Given the description of an element on the screen output the (x, y) to click on. 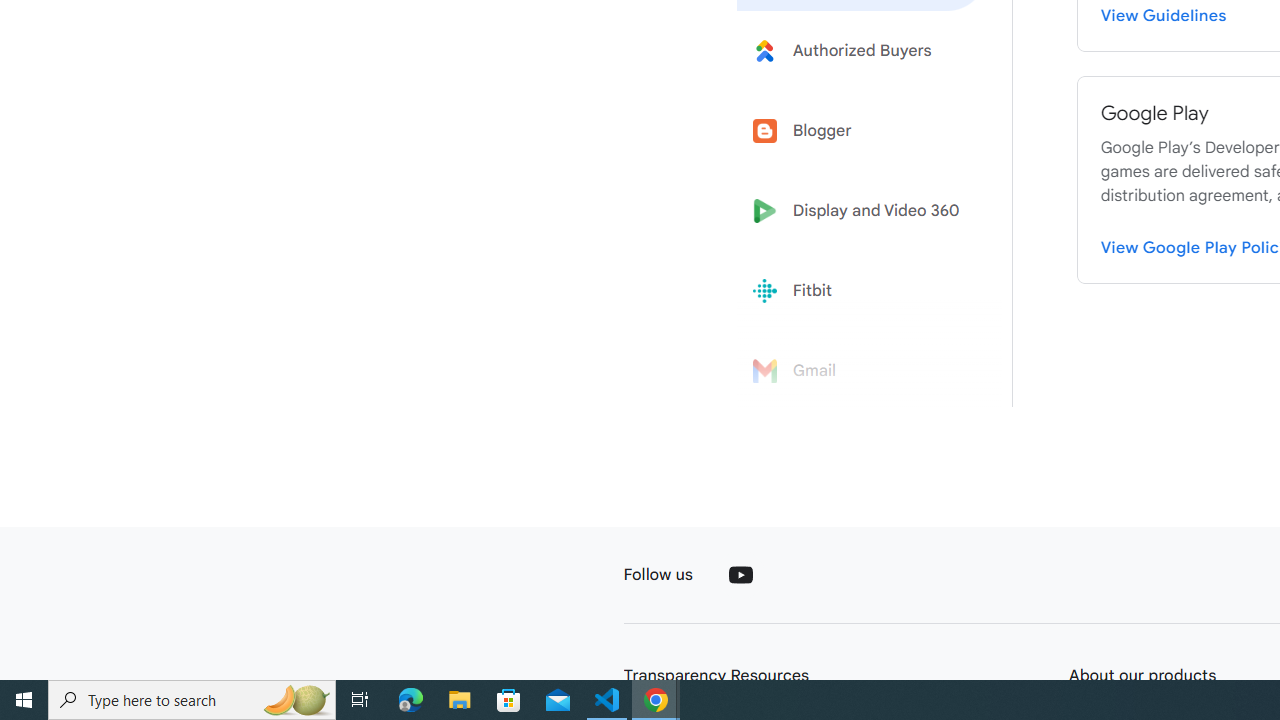
Gmail (862, 371)
Blogger (862, 130)
Fitbit (862, 291)
Display and Video 360 (862, 211)
Blogger (862, 130)
Display and Video 360 (862, 211)
Learn more about Authorized Buyers (862, 50)
Gmail (862, 371)
YouTube (740, 574)
Fitbit (862, 291)
Learn more about Authorized Buyers (862, 50)
